Given the description of an element on the screen output the (x, y) to click on. 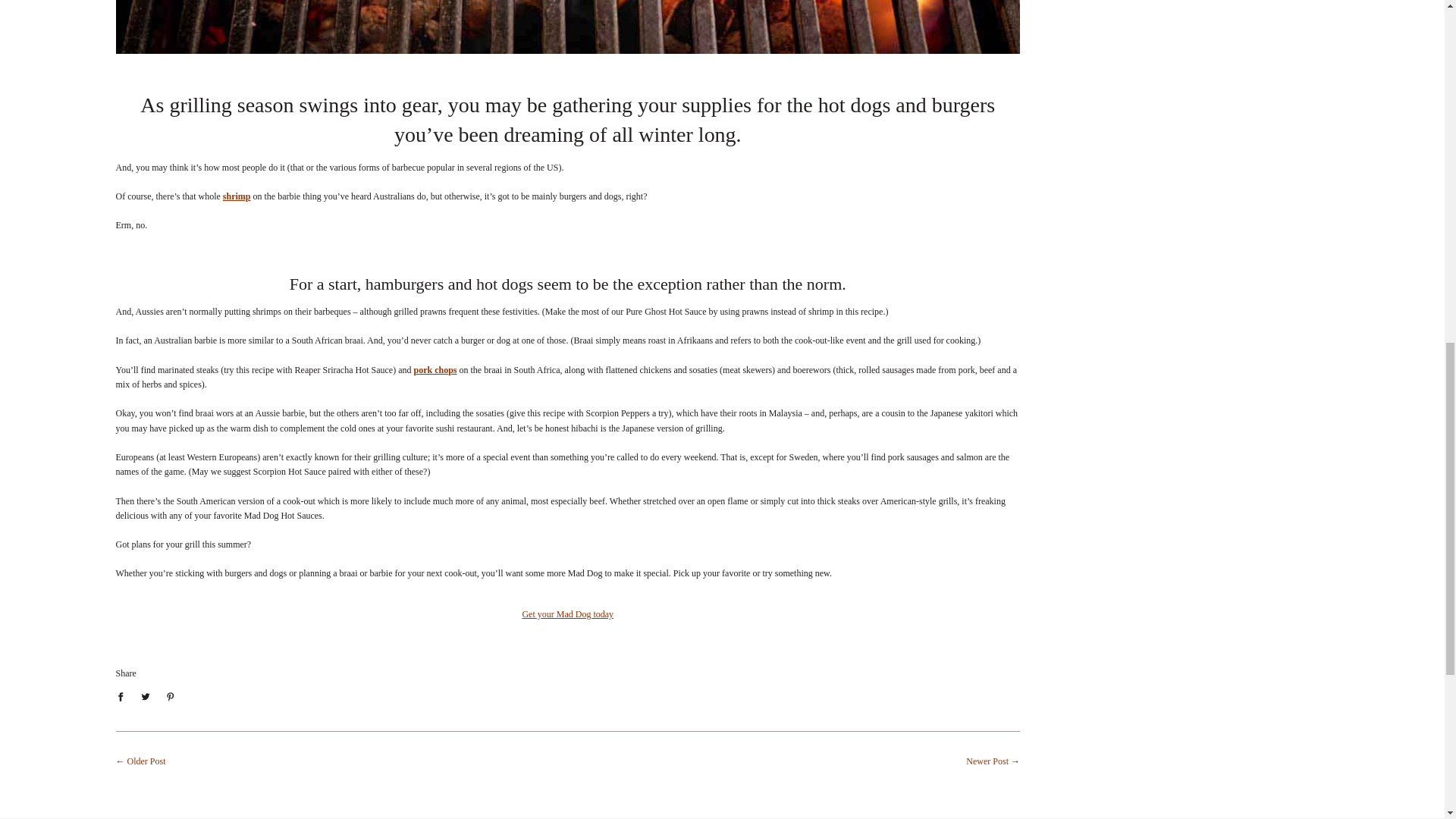
Mad Dog 357 Hot Sauces (566, 614)
Fiery Shrimp Scampi (236, 195)
Spicy Tomato Pork Chops (435, 369)
